Given the description of an element on the screen output the (x, y) to click on. 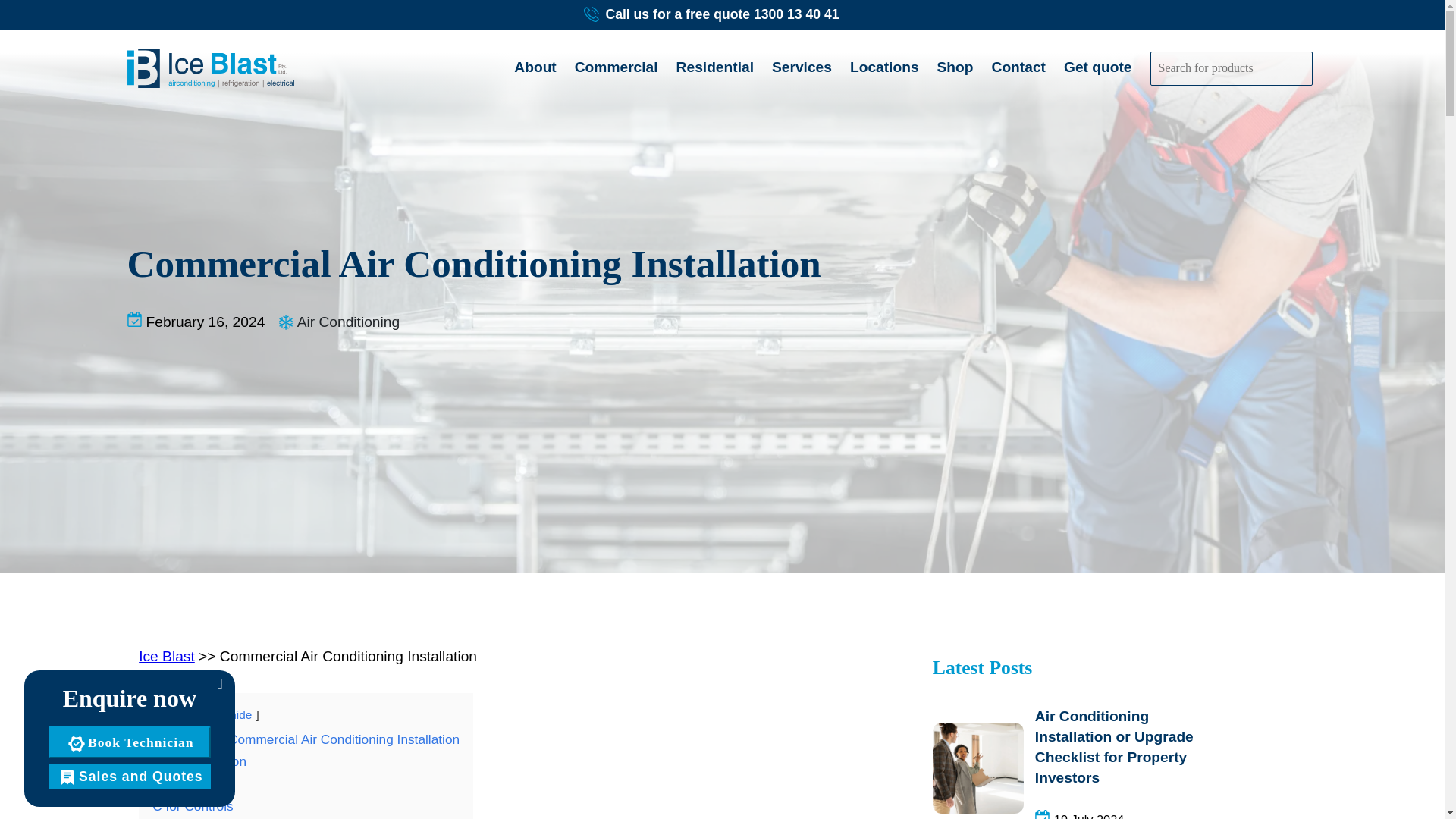
Sales and Quotes (129, 776)
February 16, 2024 10:05 am (204, 321)
Call us for a free quote 1300 13 40 41 (721, 14)
Technical Support (129, 742)
